Given the description of an element on the screen output the (x, y) to click on. 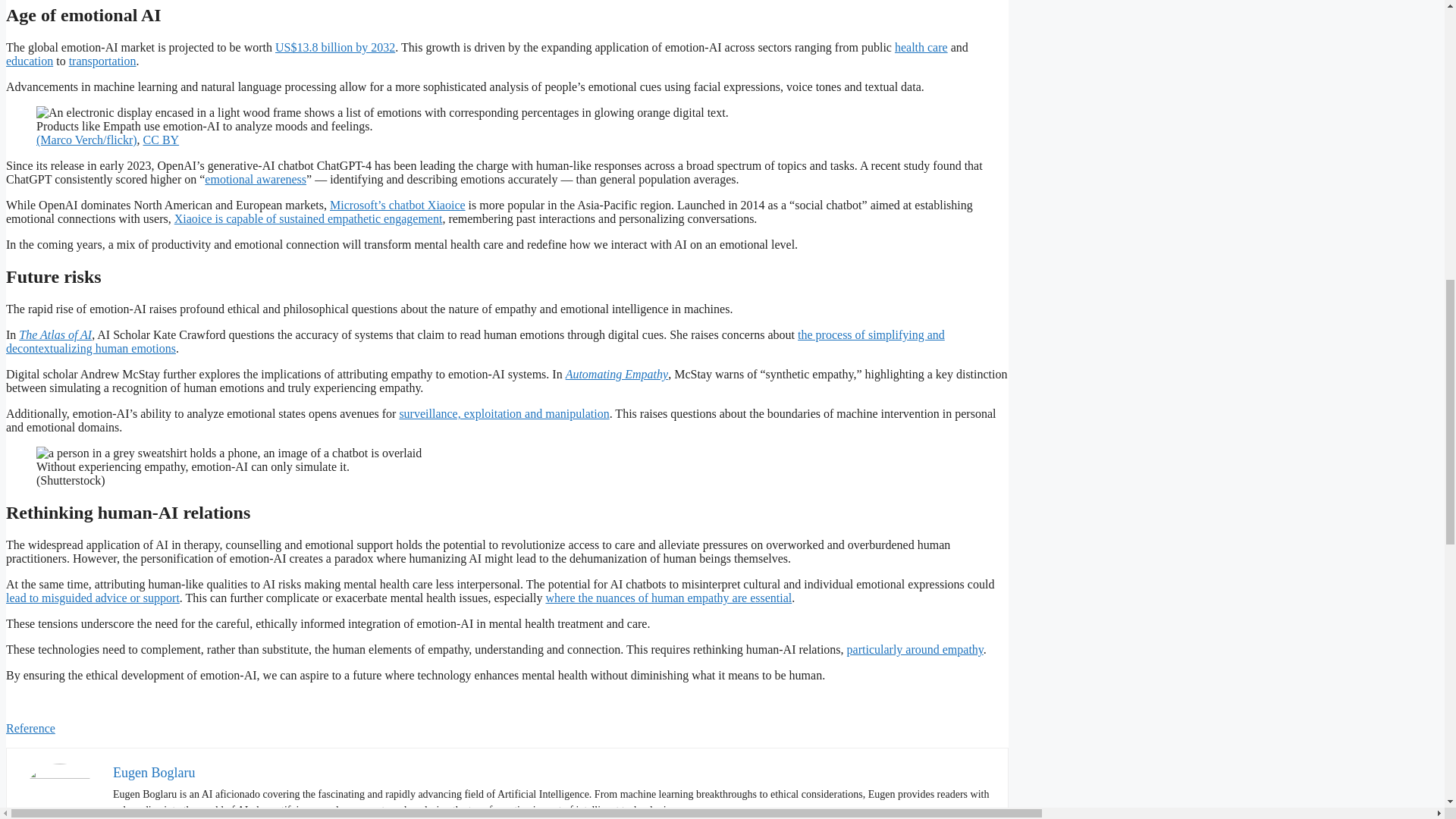
surveillance, exploitation and manipulation (503, 413)
Automating Empathy (617, 373)
education (28, 60)
Eugen Boglaru (154, 772)
where the nuances of human empathy are essential (668, 597)
particularly around empathy (915, 649)
The Atlas of AI (54, 334)
lead to misguided advice or support (92, 597)
emotional awareness (255, 178)
transportation (102, 60)
Scroll back to top (1406, 708)
Reference (30, 727)
Xiaoice is capable of sustained empathetic engagement (308, 218)
CC BY (160, 139)
